Given the description of an element on the screen output the (x, y) to click on. 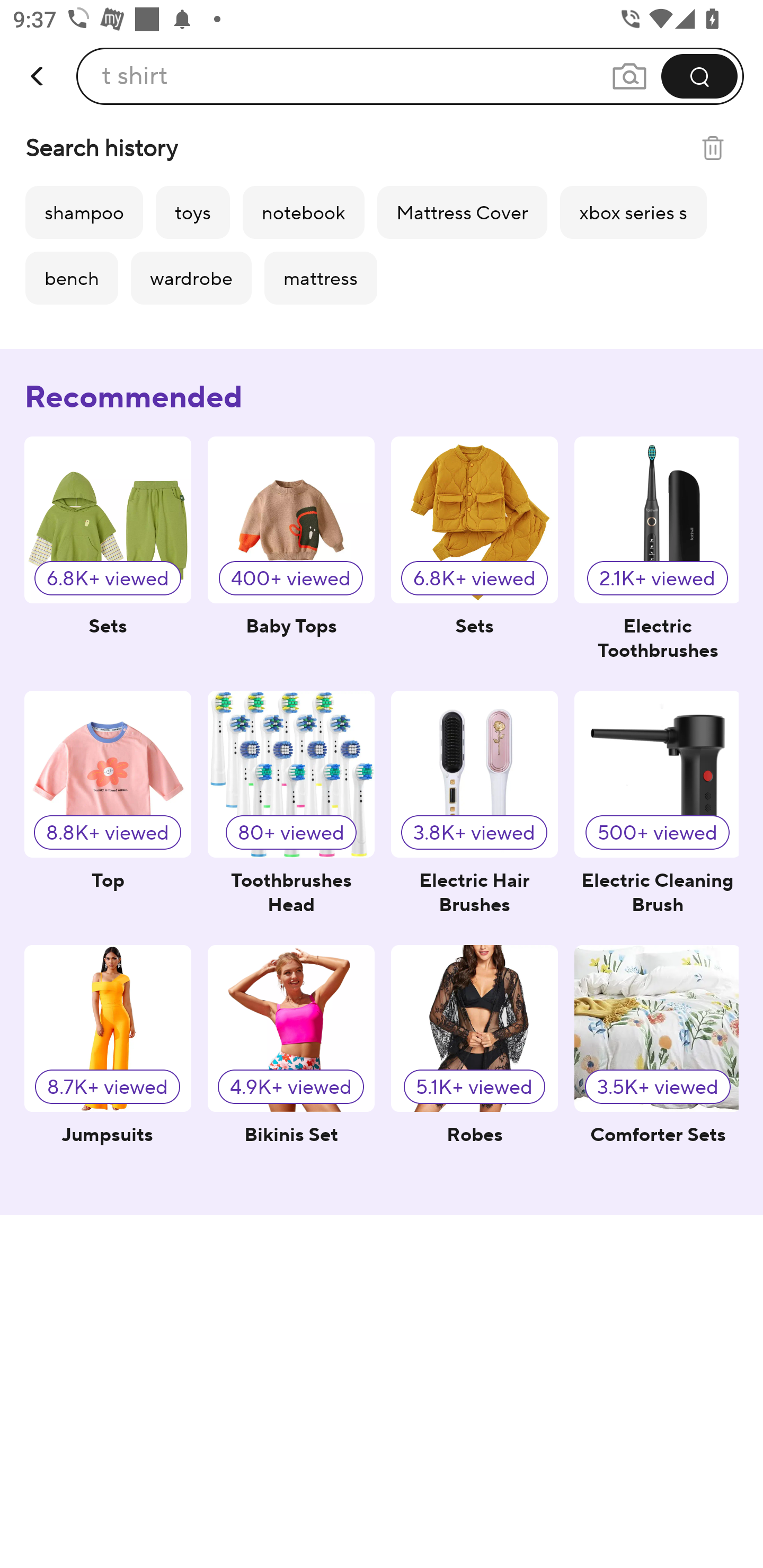
t shirt (409, 76)
t shirt (134, 76)
shampoo (84, 212)
toys (192, 212)
notebook (303, 212)
Mattress Cover (461, 212)
xbox series s (633, 212)
bench (71, 277)
wardrobe (191, 277)
mattress (320, 277)
6.8K+ viewed Sets (107, 554)
400+ viewed Baby Tops (290, 554)
6.8K+ viewed Sets (473, 554)
2.1K+ viewed Electric Toothbrushes (656, 554)
8.8K+ viewed Top (107, 809)
80+ viewed Toothbrushes Head (290, 809)
3.8K+ viewed Electric Hair Brushes (473, 809)
500+ viewed Electric Cleaning Brush (656, 809)
8.7K+ viewed Jumpsuits (107, 1063)
4.9K+ viewed Bikinis Set (290, 1063)
5.1K+ viewed Robes (473, 1063)
3.5K+ viewed Comforter Sets (656, 1063)
